Given the description of an element on the screen output the (x, y) to click on. 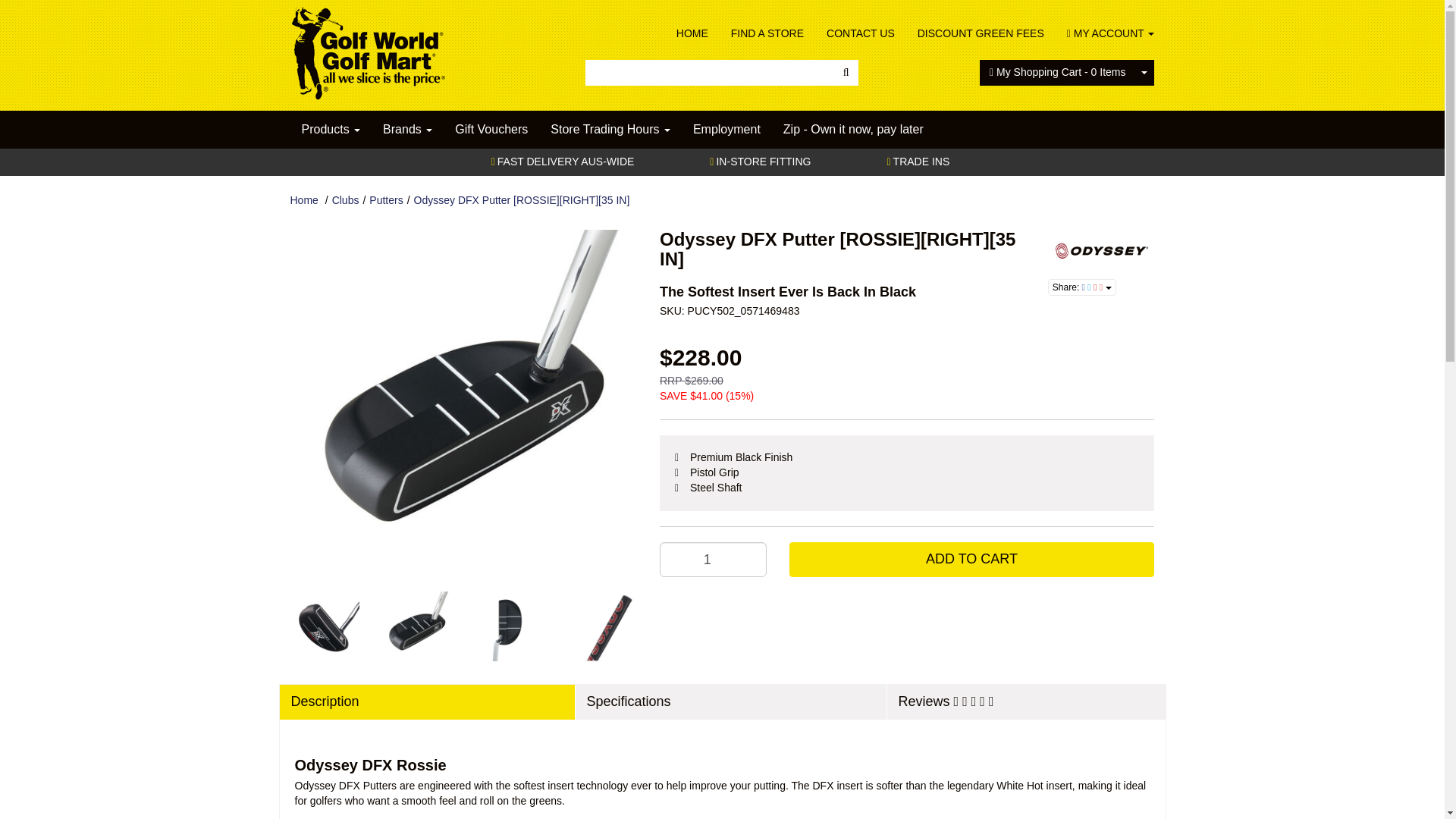
DISCOUNT GREEN FEES (980, 33)
Search (845, 72)
Large View (509, 625)
FIND A STORE (767, 33)
1 (713, 559)
Products (330, 129)
My Shopping Cart - 0 Items (1057, 72)
Add to Cart (971, 559)
MY ACCOUNT (1104, 33)
Large View (416, 625)
